Given the description of an element on the screen output the (x, y) to click on. 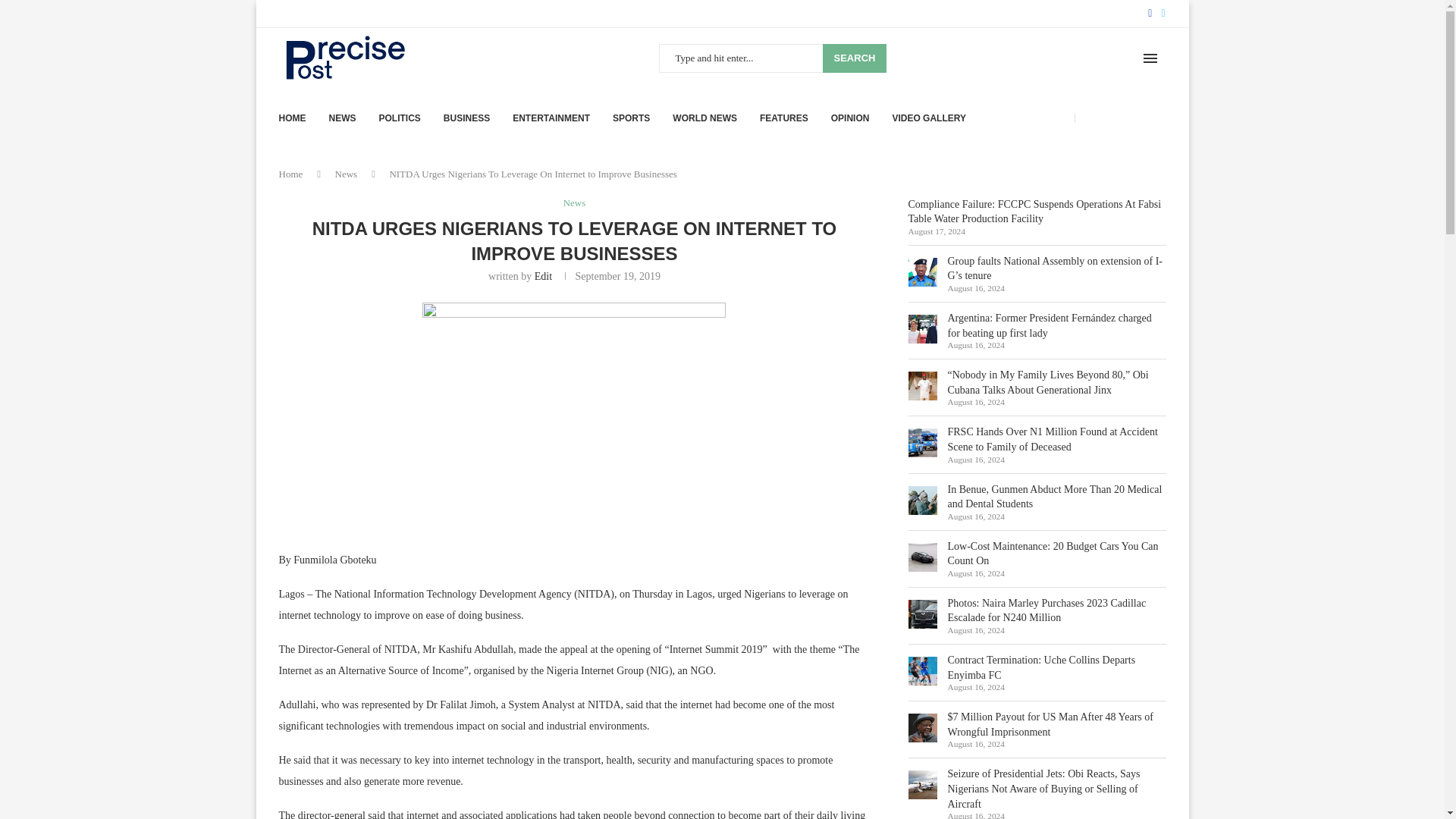
VIDEO GALLERY (928, 118)
OFFER (1053, 117)
NITDA LOGO (573, 415)
SEARCH (854, 58)
BUSINESS (466, 118)
POLITICS (399, 118)
TODAY HIGHLIGHT (1124, 117)
WORLD NEWS (704, 118)
ENTERTAINMENT (550, 118)
FEATURES (784, 118)
